Given the description of an element on the screen output the (x, y) to click on. 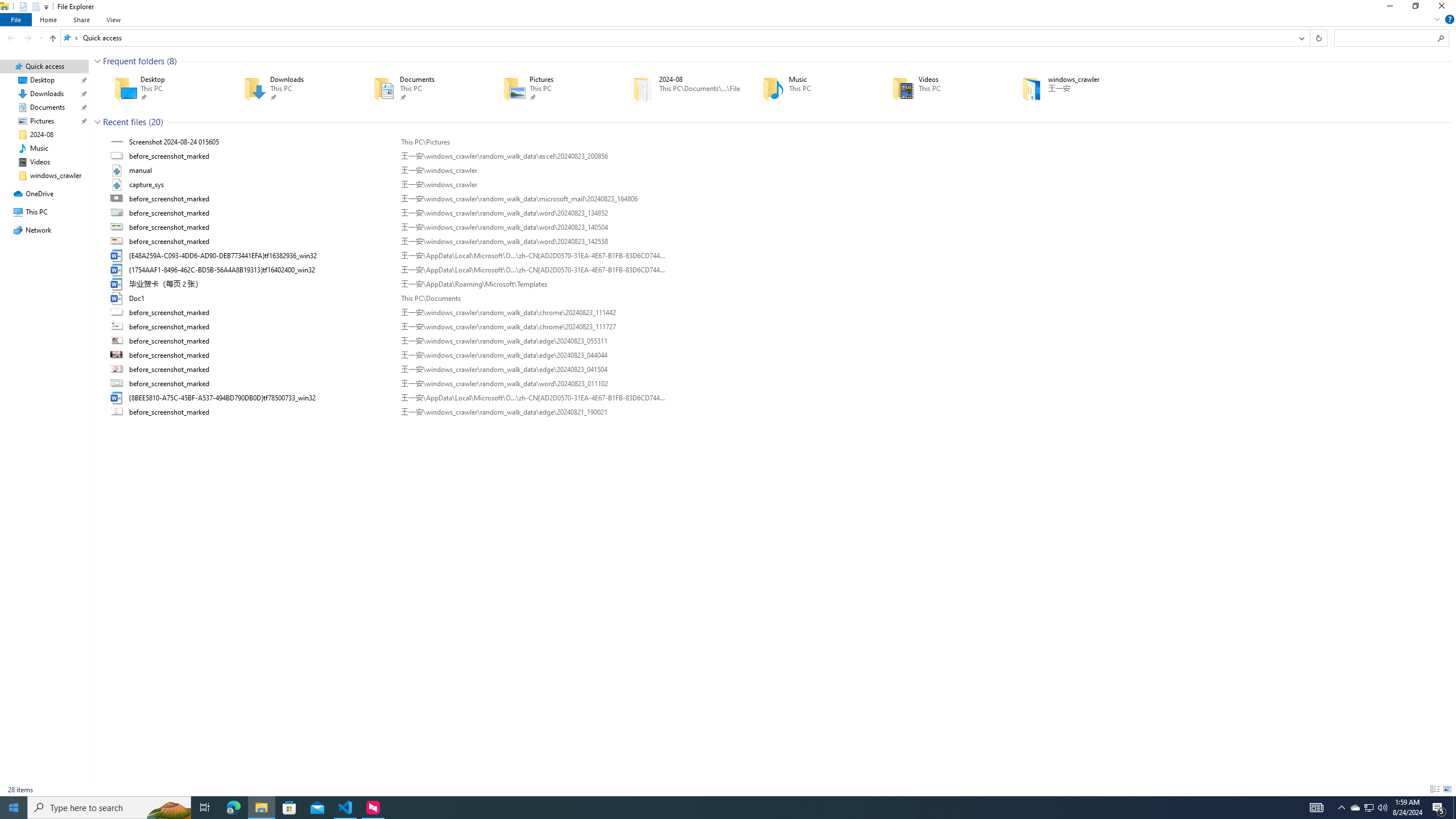
2024-08 (681, 88)
System (6, 6)
Screenshot 2024-08-24 015605 (777, 142)
Recent locations (40, 37)
Path (532, 411)
Address band toolbar (1309, 37)
Quick Access Toolbar (29, 6)
